Given the description of an element on the screen output the (x, y) to click on. 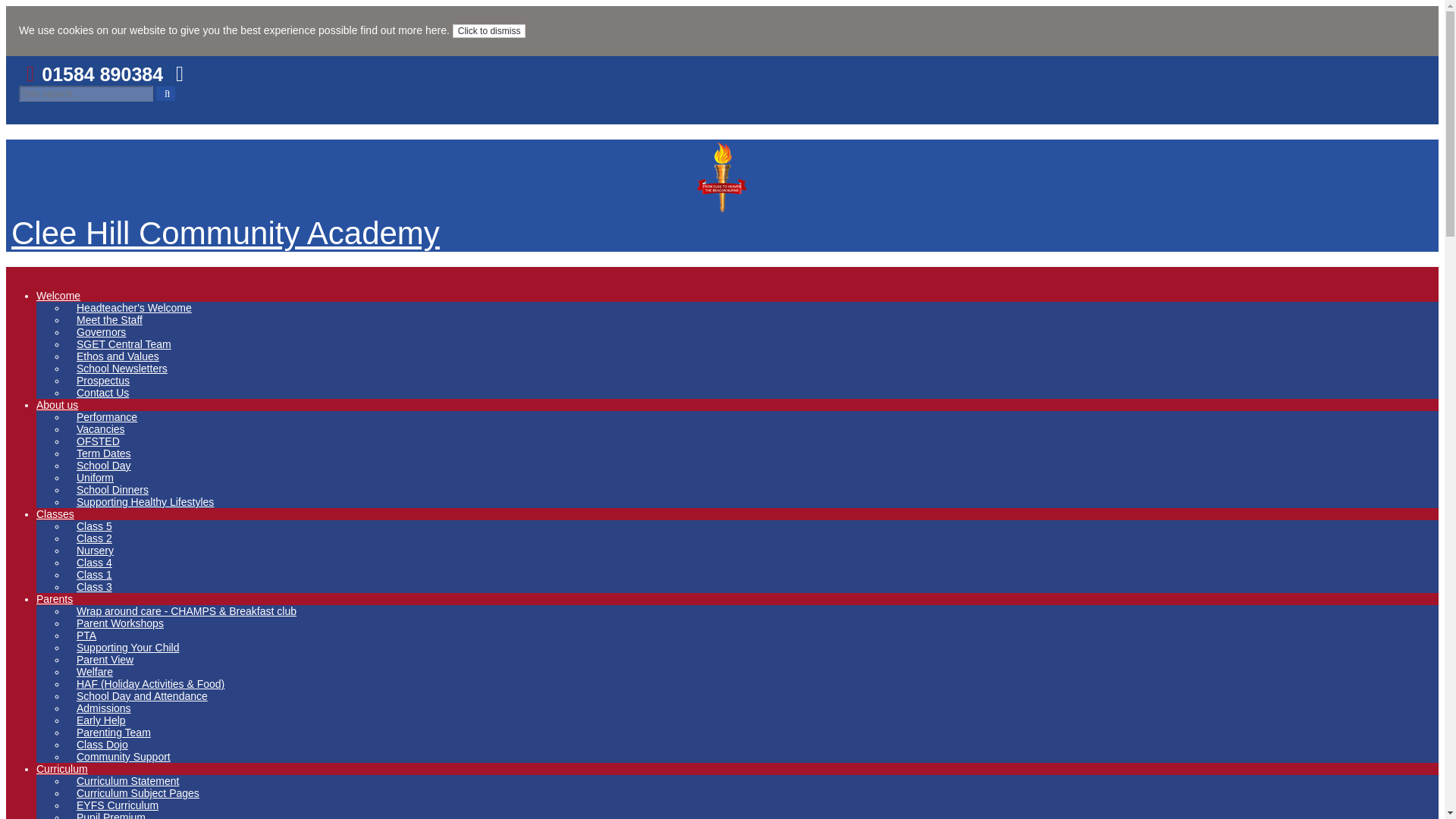
Classes (55, 513)
Nursery (99, 550)
School Newsletters (126, 368)
Headteacher's Welcome (139, 307)
Contact Us (107, 392)
Class 3 (99, 586)
find out more here (402, 30)
Ethos and Values (122, 356)
Supporting Your Child (132, 646)
About us (57, 404)
Find out more about how we use cookies on our website (402, 30)
OFSTED (102, 441)
Governors (106, 331)
Performance (111, 416)
